Given the description of an element on the screen output the (x, y) to click on. 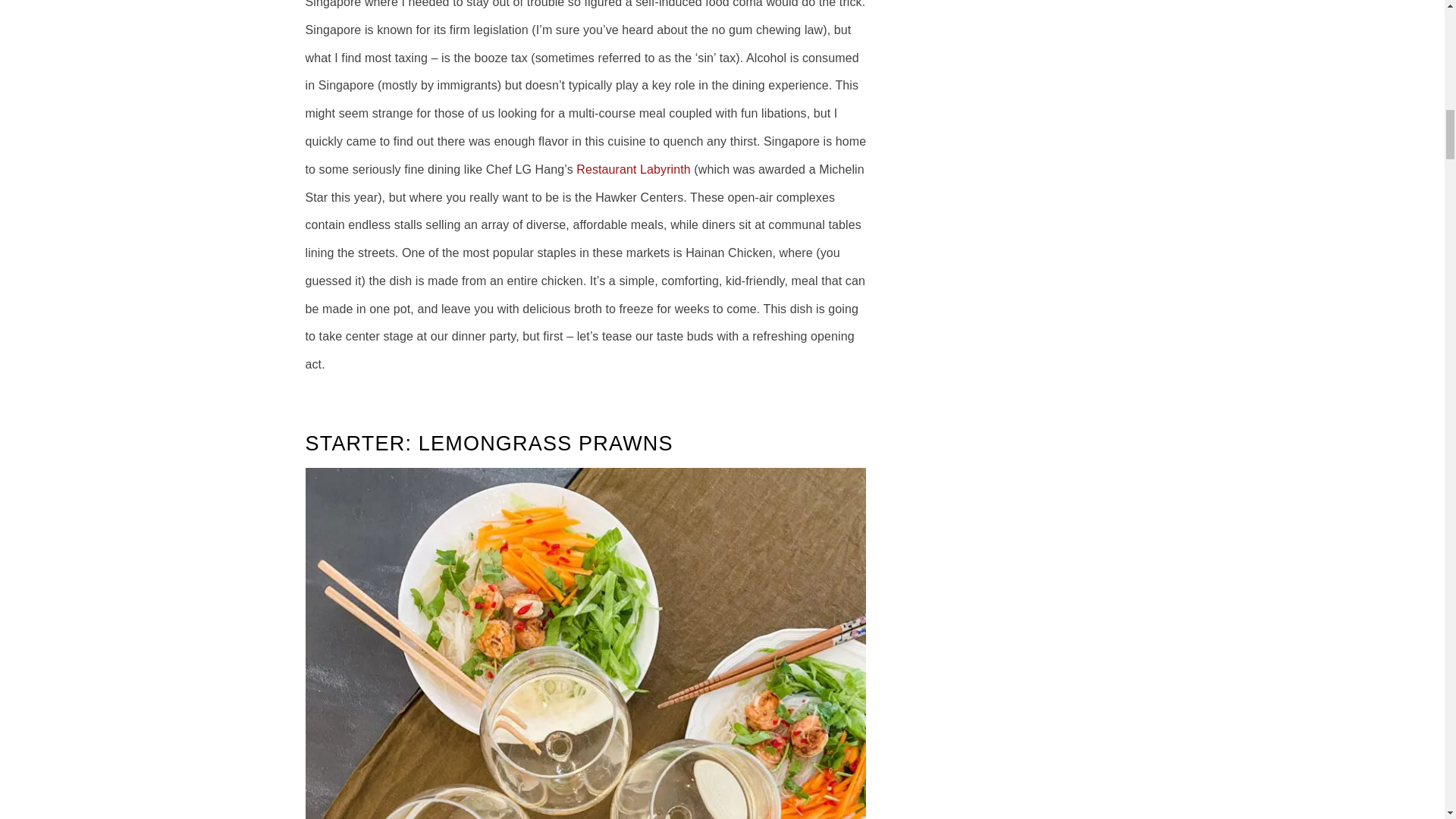
Restaurant Labyrinth (633, 169)
